Given the description of an element on the screen output the (x, y) to click on. 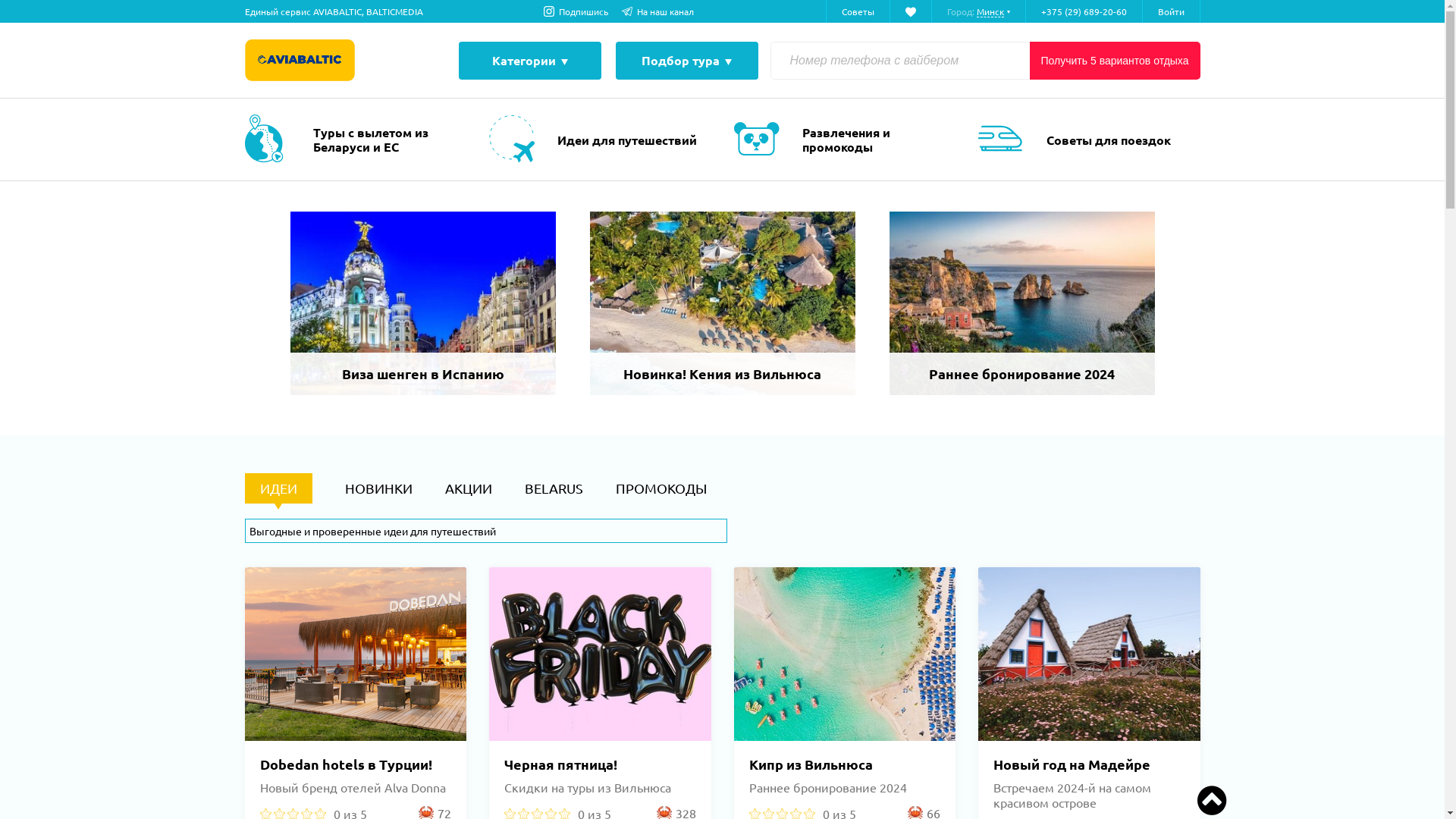
BELARUS Element type: text (553, 488)
+375 (29) 689-20-60 Element type: text (1083, 11)
